Given the description of an element on the screen output the (x, y) to click on. 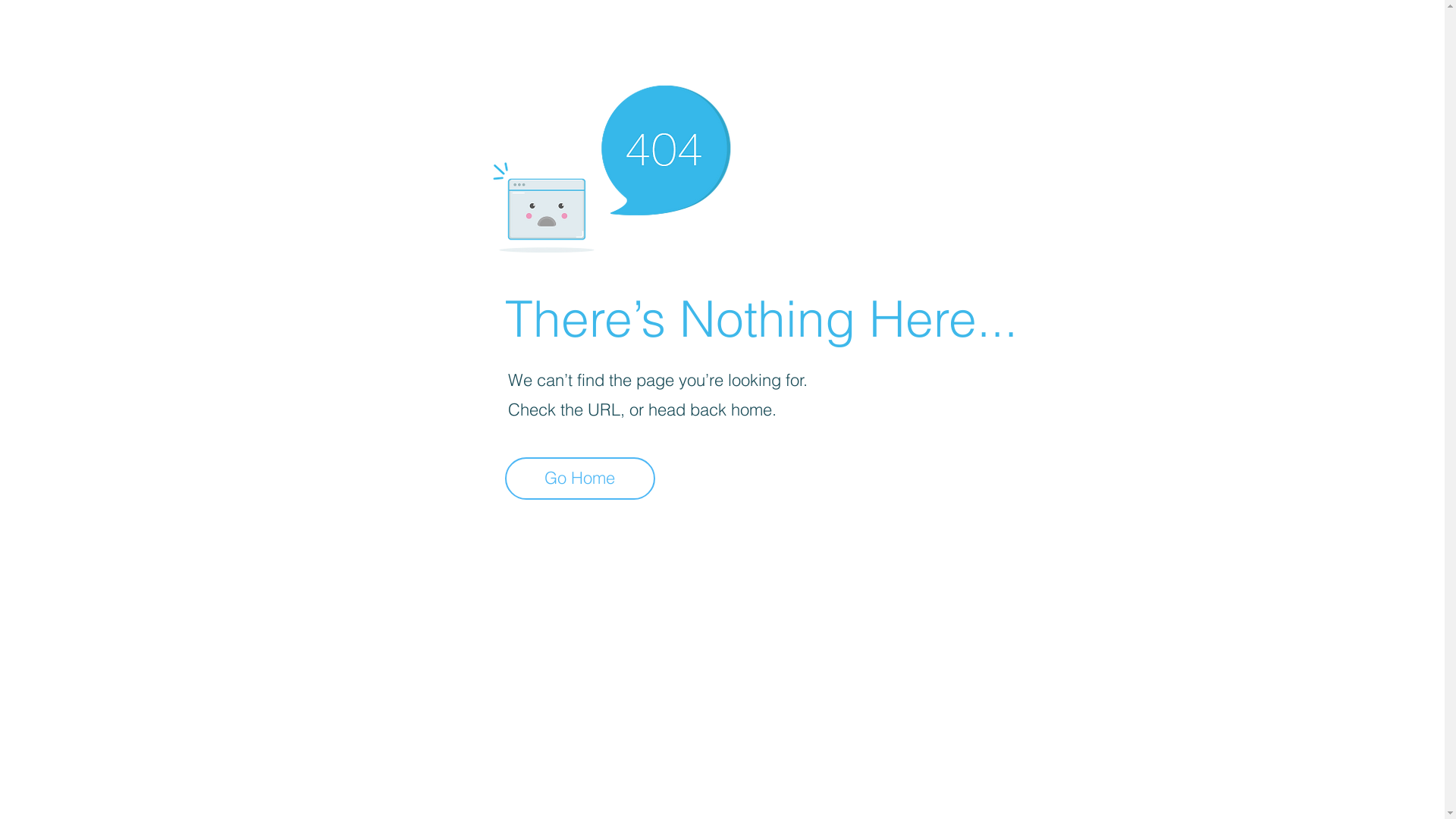
Go Home Element type: text (580, 478)
404-icon_2.png Element type: hover (610, 164)
